Given the description of an element on the screen output the (x, y) to click on. 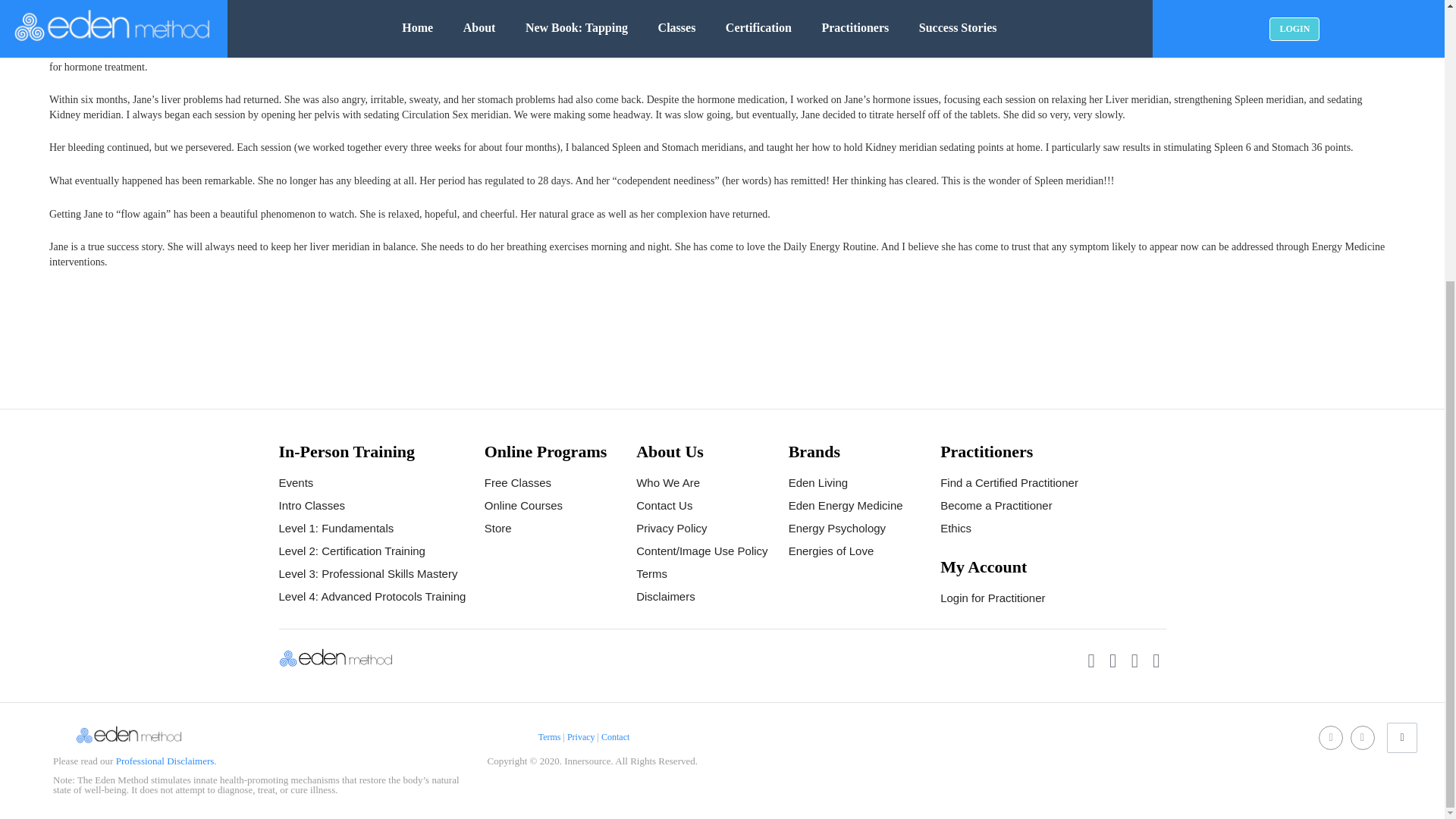
Level 3: Professional Skills Mastery (368, 573)
Events (296, 481)
facebook (1330, 737)
Who We Are (668, 481)
Contact Us (664, 504)
Privacy Policy (671, 527)
Eden Living (818, 481)
Disclaimers (665, 595)
Terms (651, 573)
Level 2: Certification Training (352, 550)
